Given the description of an element on the screen output the (x, y) to click on. 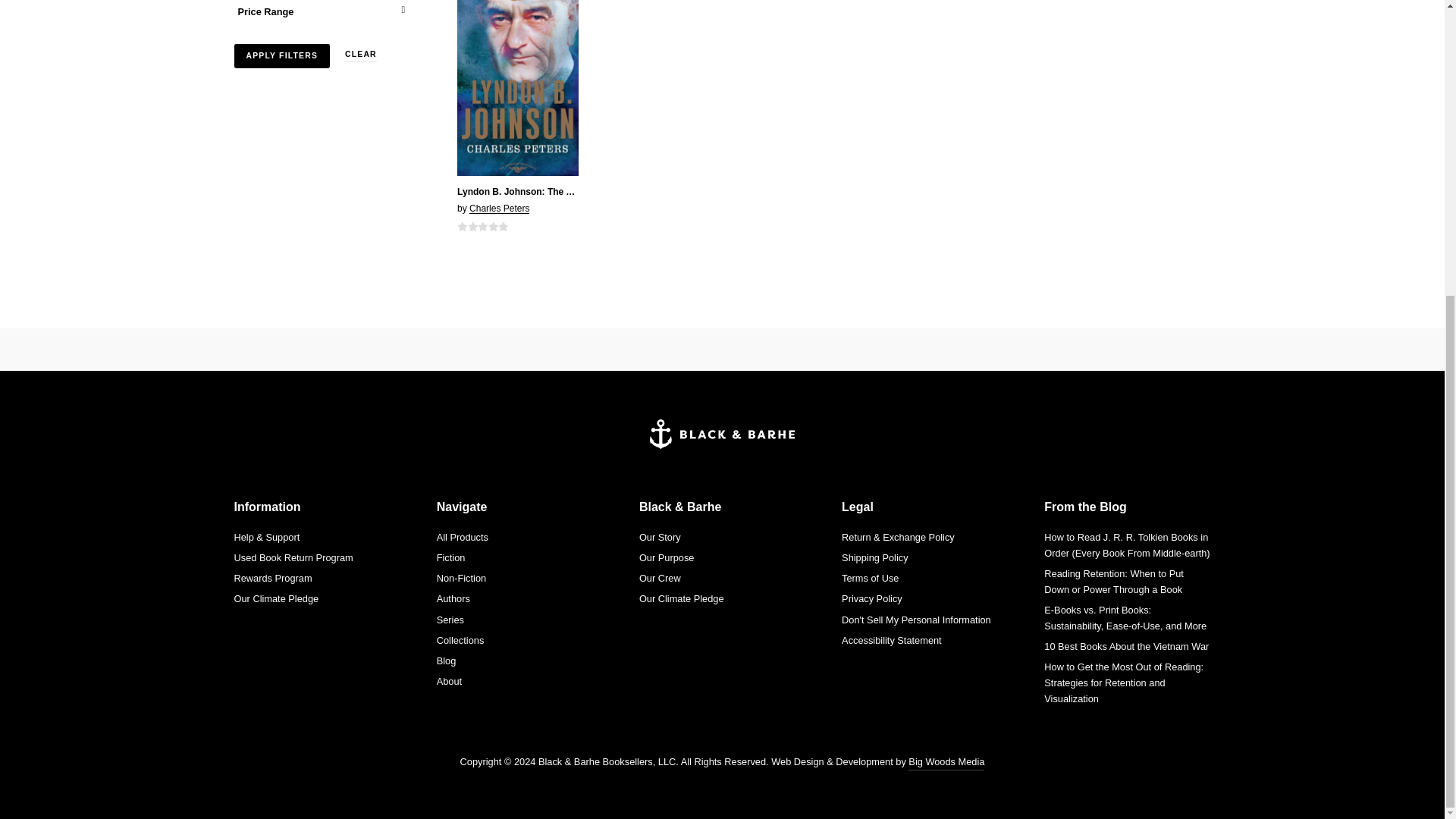
Customer reviews powered by Trustpilot (720, 349)
No reviews yet (482, 226)
